Given the description of an element on the screen output the (x, y) to click on. 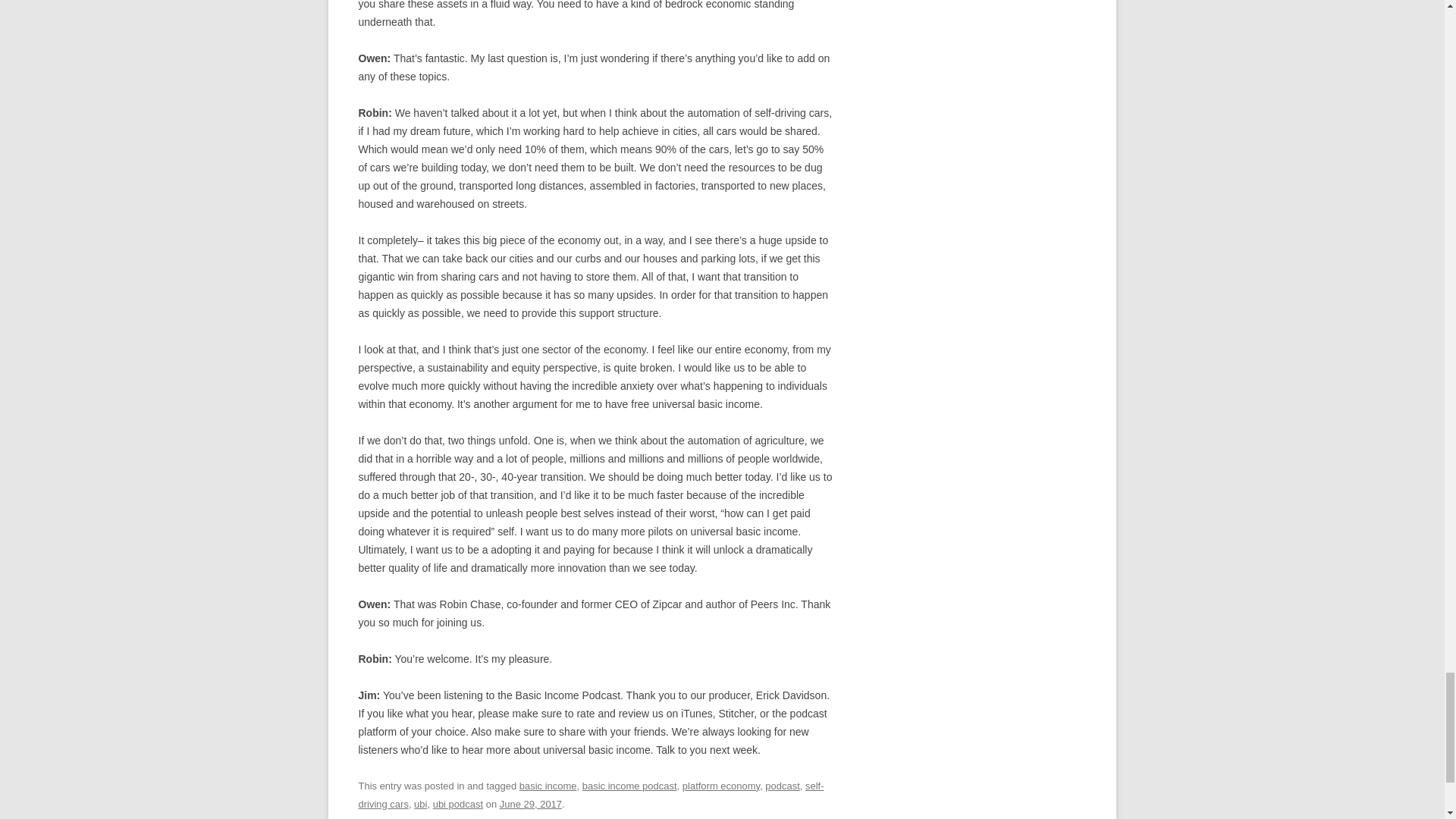
podcast (782, 785)
platform economy (721, 785)
self-driving cars (591, 794)
basic income podcast (629, 785)
ubi (419, 803)
June 29, 2017 (530, 803)
basic income (547, 785)
ubi podcast (457, 803)
